Given the description of an element on the screen output the (x, y) to click on. 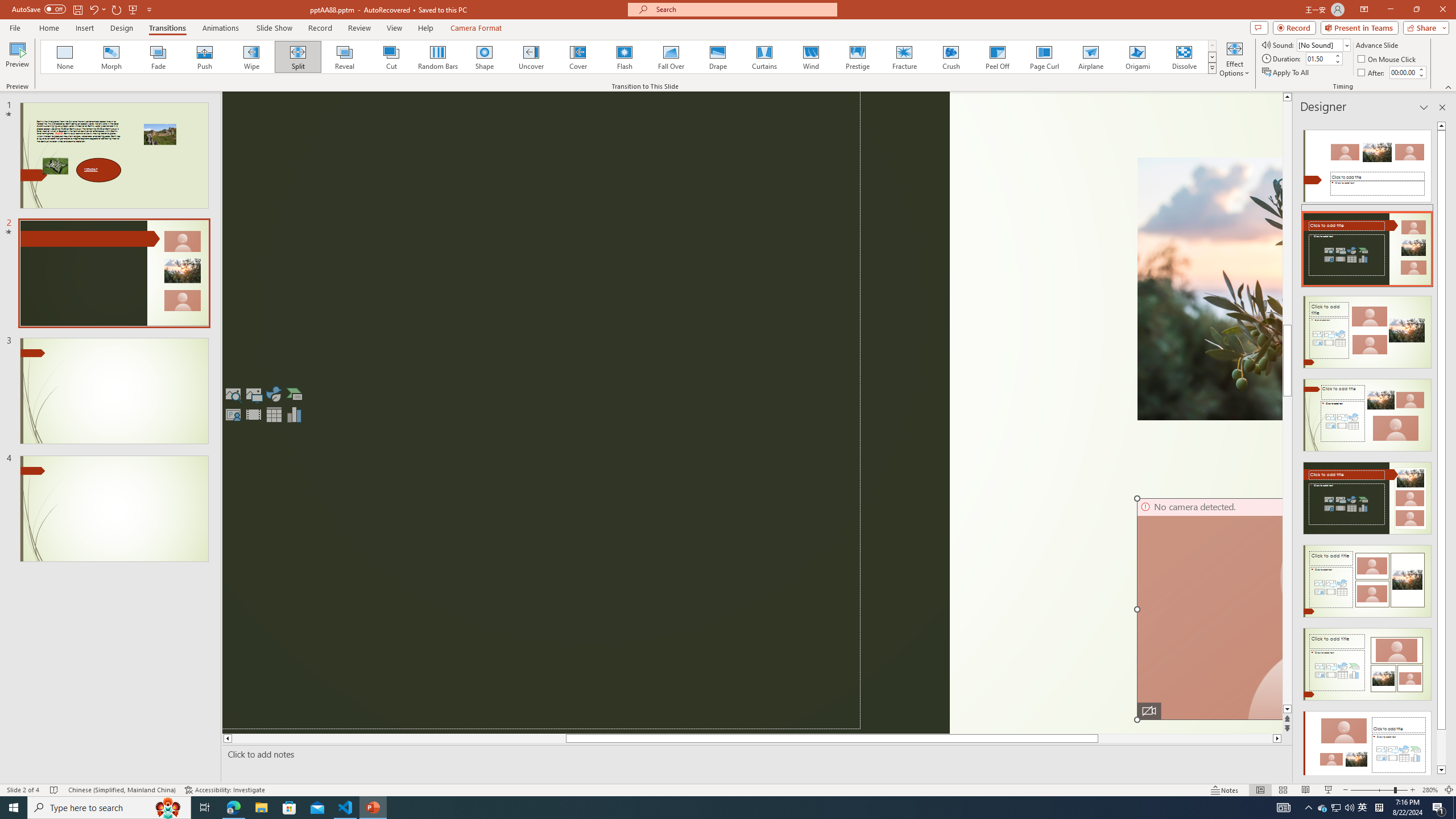
Push (205, 56)
Sound (1324, 44)
Pictures (253, 393)
Fracture (903, 56)
